Given the description of an element on the screen output the (x, y) to click on. 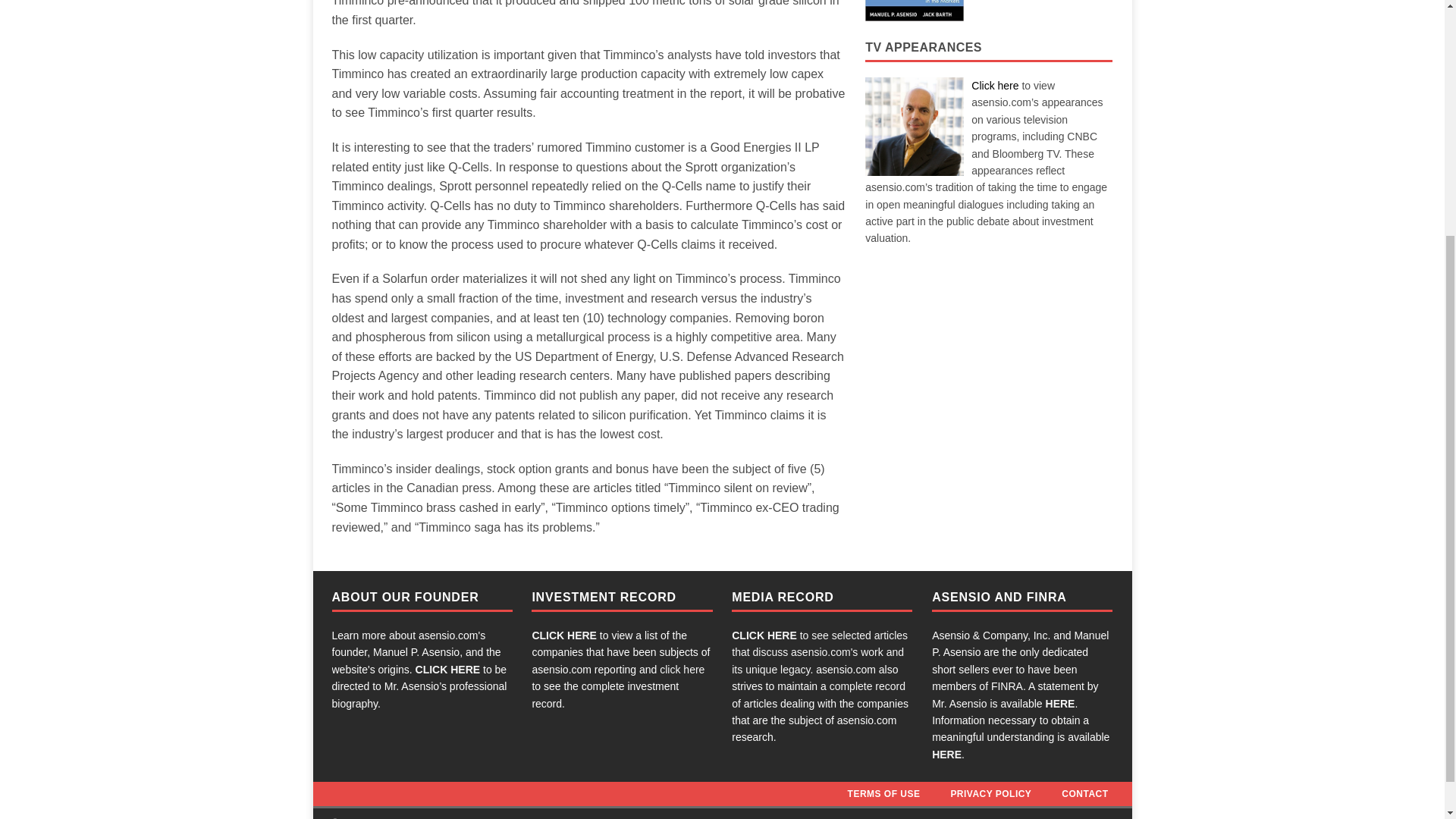
CONTACT (1084, 793)
